Given the description of an element on the screen output the (x, y) to click on. 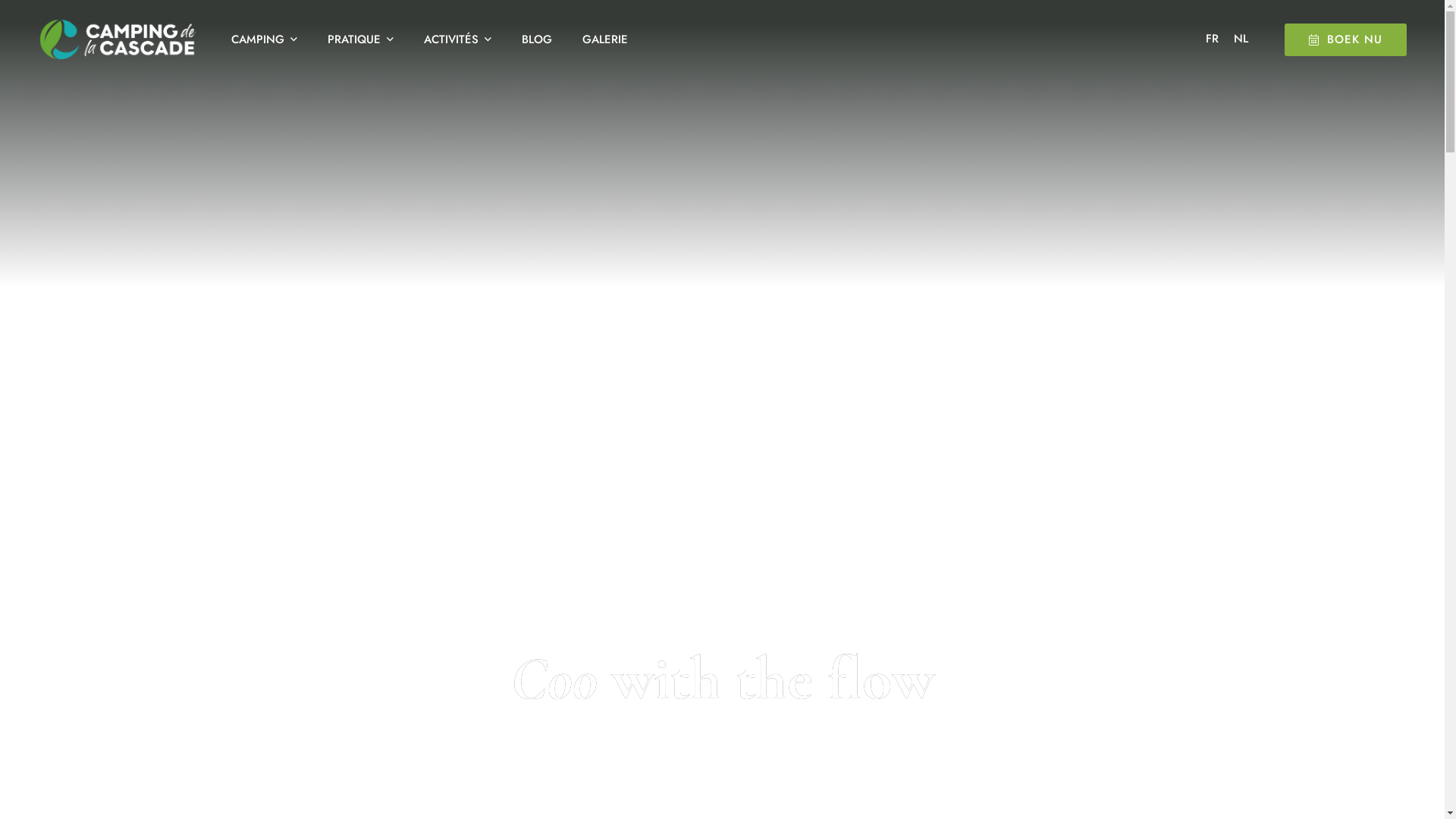
FR Element type: text (1212, 39)
BOEK NU Element type: text (1345, 38)
NL Element type: text (1240, 39)
BLOG Element type: text (536, 39)
GALERIE Element type: text (597, 39)
CAMPING Element type: text (271, 39)
PRATIQUE Element type: text (360, 39)
